Given the description of an element on the screen output the (x, y) to click on. 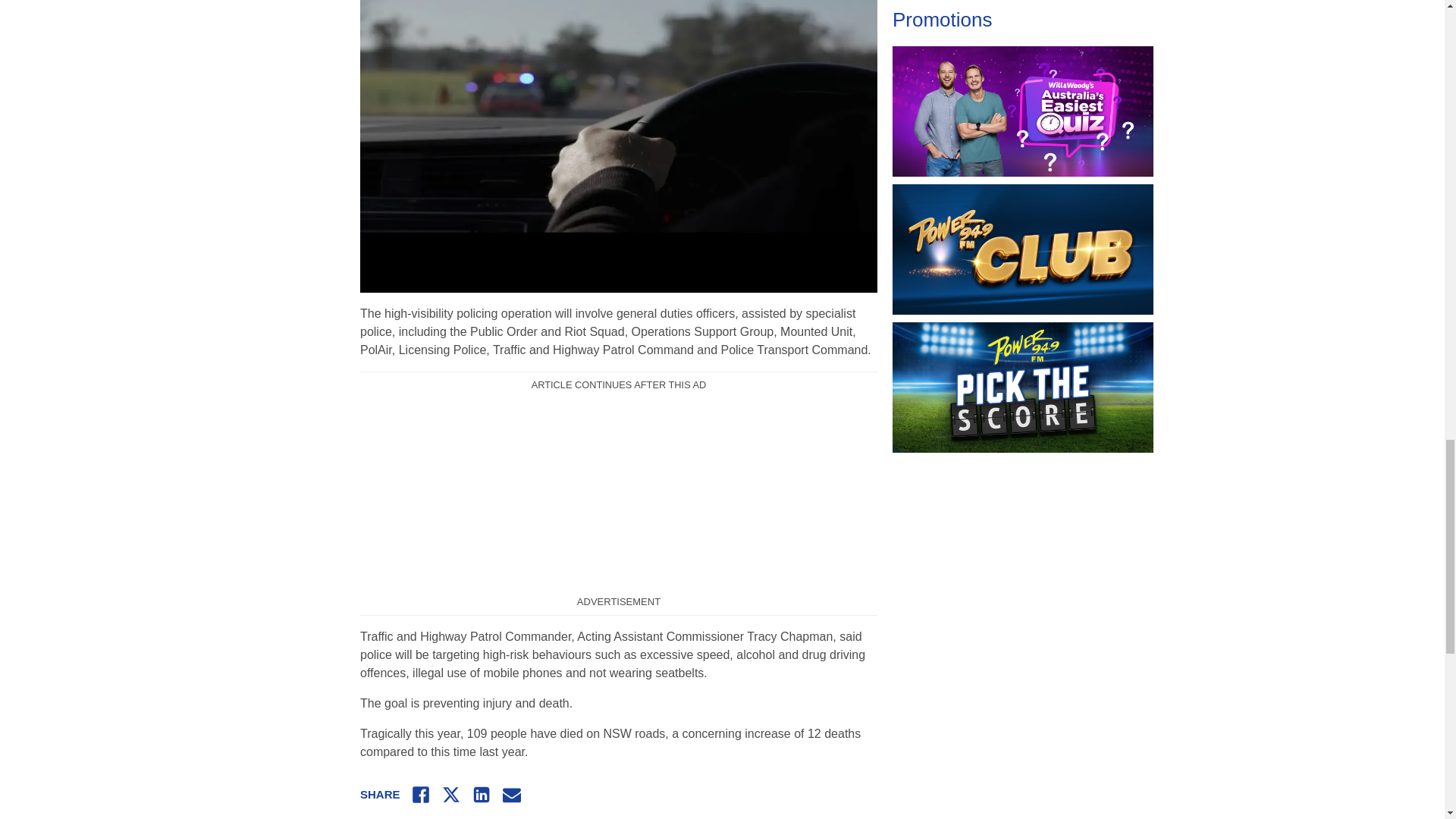
3rd party ad content (618, 494)
